Given the description of an element on the screen output the (x, y) to click on. 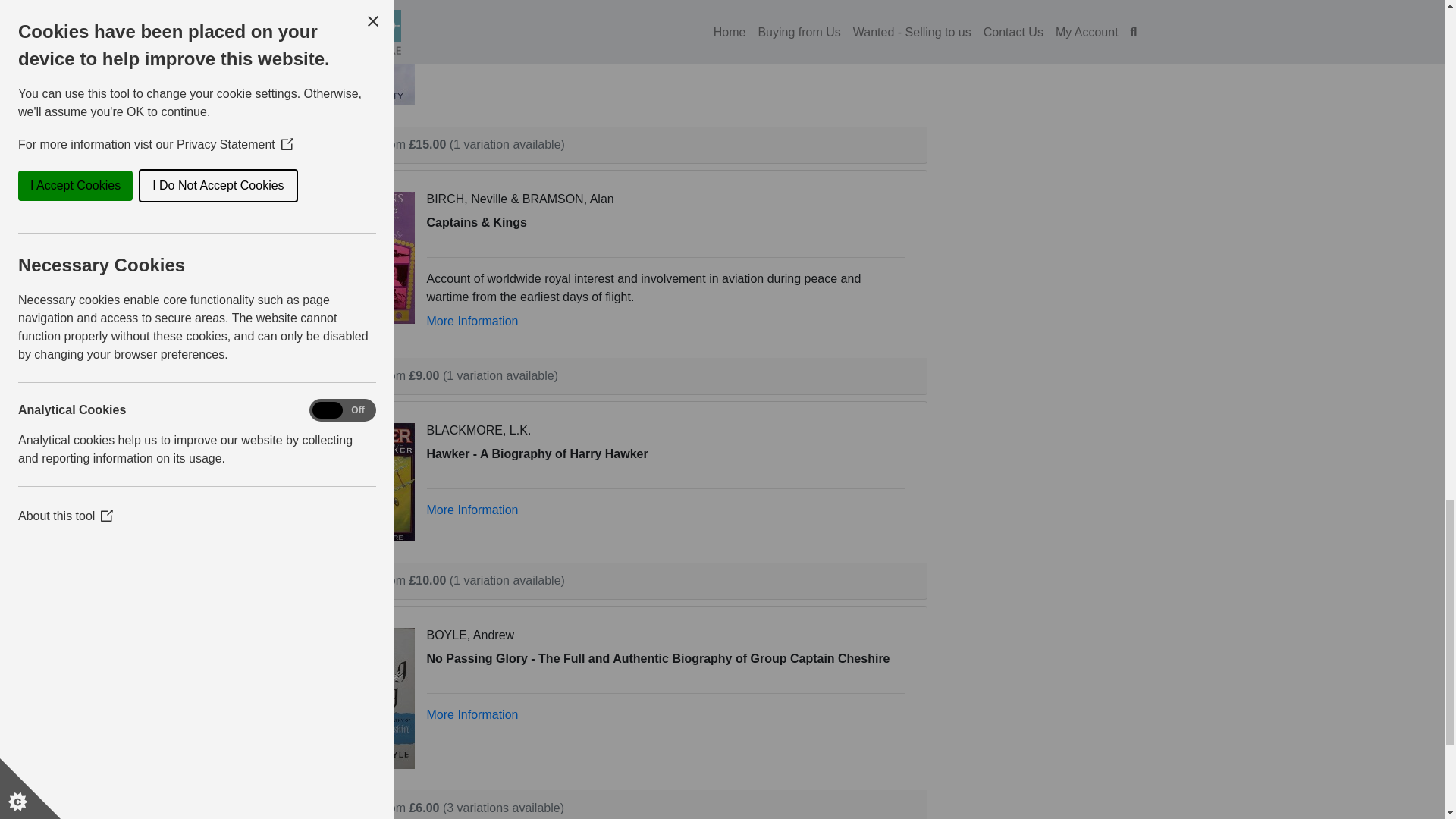
Hawker - A Biography of Harry Hawker by BLACKMORE, L.K.  (368, 481)
